Given the description of an element on the screen output the (x, y) to click on. 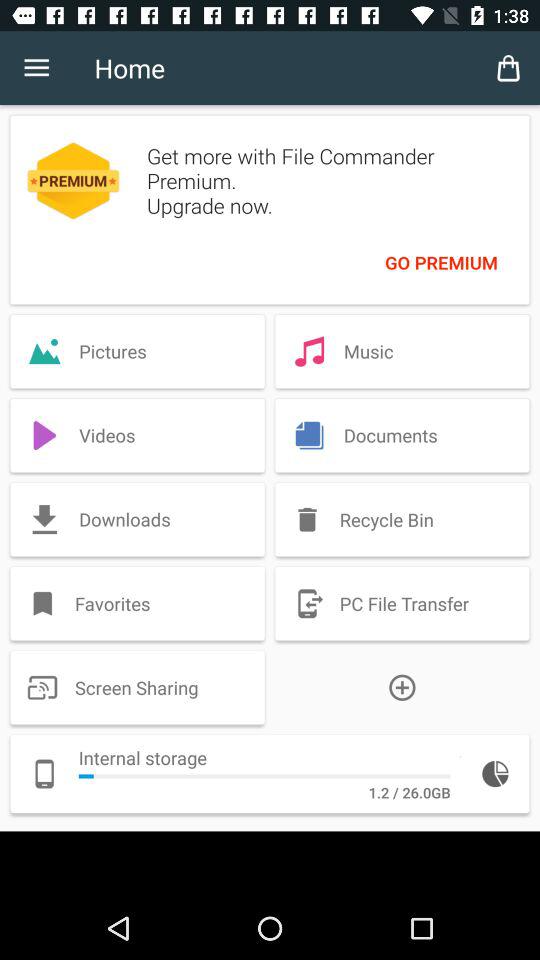
tap the icon to the left of home (36, 68)
